Given the description of an element on the screen output the (x, y) to click on. 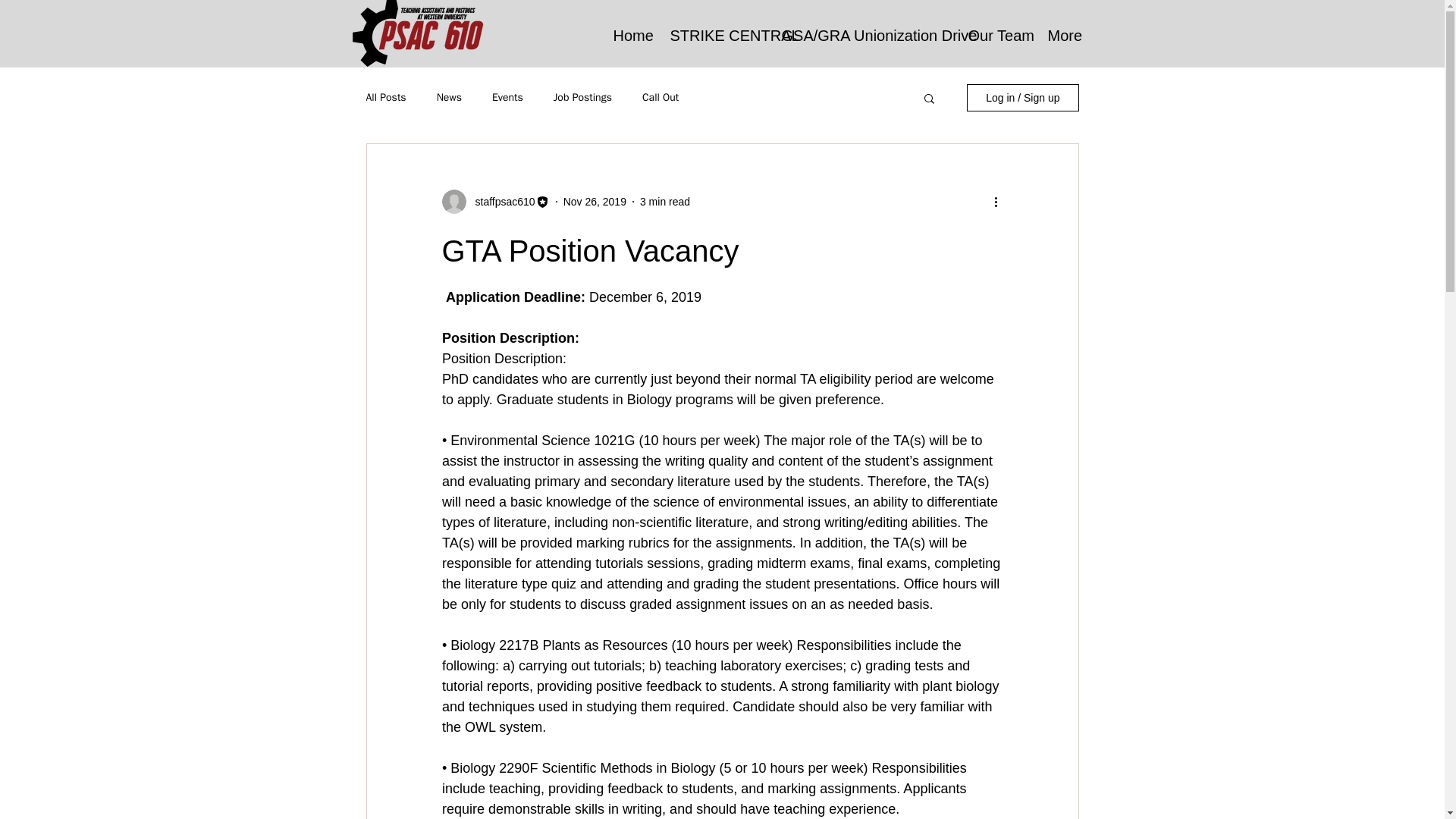
Call Out (660, 97)
Our Team (996, 33)
3 min read (665, 201)
STRIKE CENTRAL (714, 33)
News (448, 97)
All Posts (385, 97)
staffpsac610 (499, 201)
Events (507, 97)
Home (630, 33)
Nov 26, 2019 (594, 201)
Job Postings (582, 97)
